Given the description of an element on the screen output the (x, y) to click on. 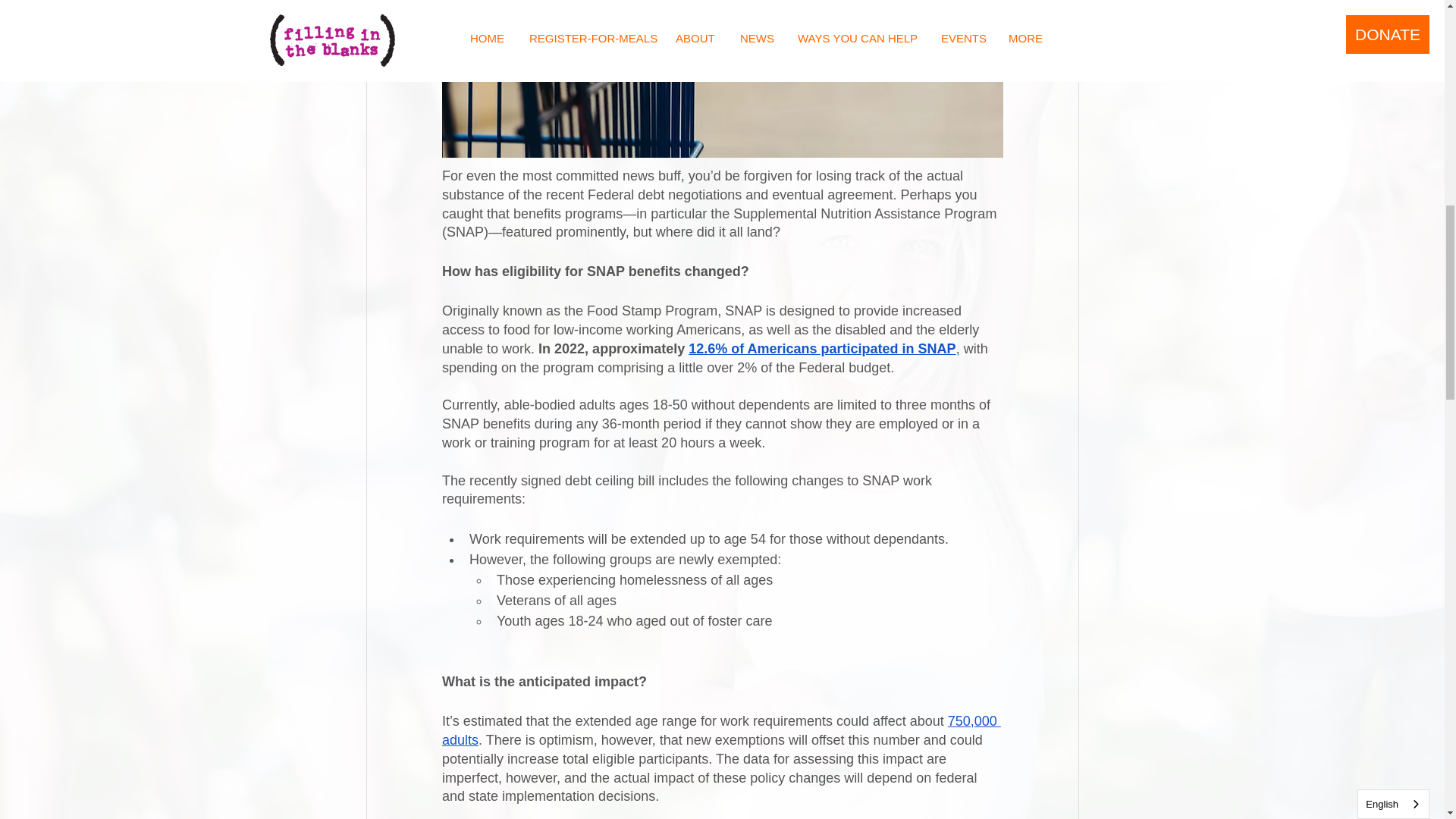
750,000 adults (720, 730)
